Given the description of an element on the screen output the (x, y) to click on. 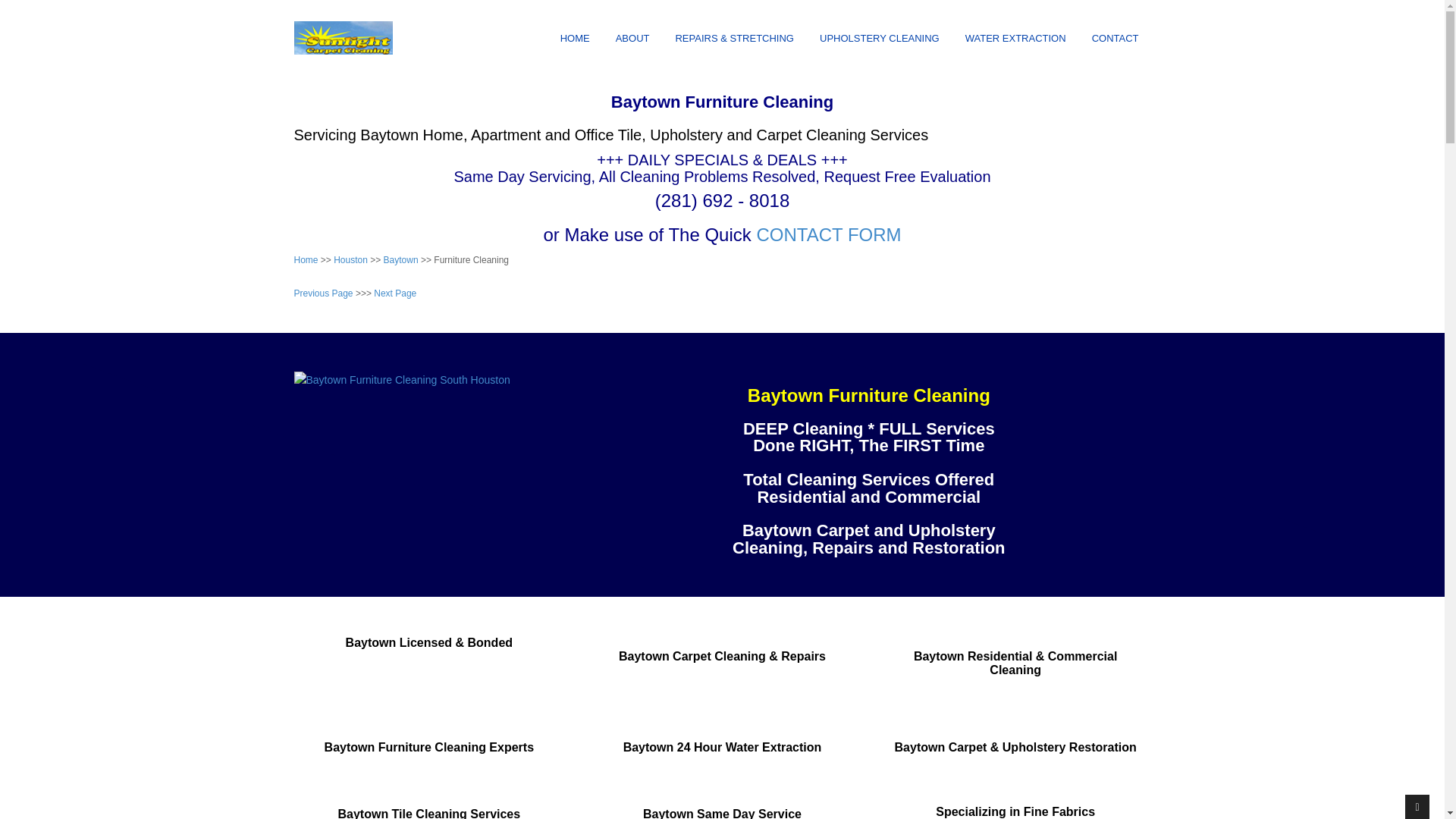
HOME (575, 38)
Home (306, 259)
Houston (350, 259)
WATER EXTRACTION (1015, 38)
CONTACT FORM (828, 234)
UPHOLSTERY CLEANING (880, 38)
Previous Page (323, 293)
ABOUT (633, 38)
Baytown (401, 259)
CONTACT (1115, 38)
